Given the description of an element on the screen output the (x, y) to click on. 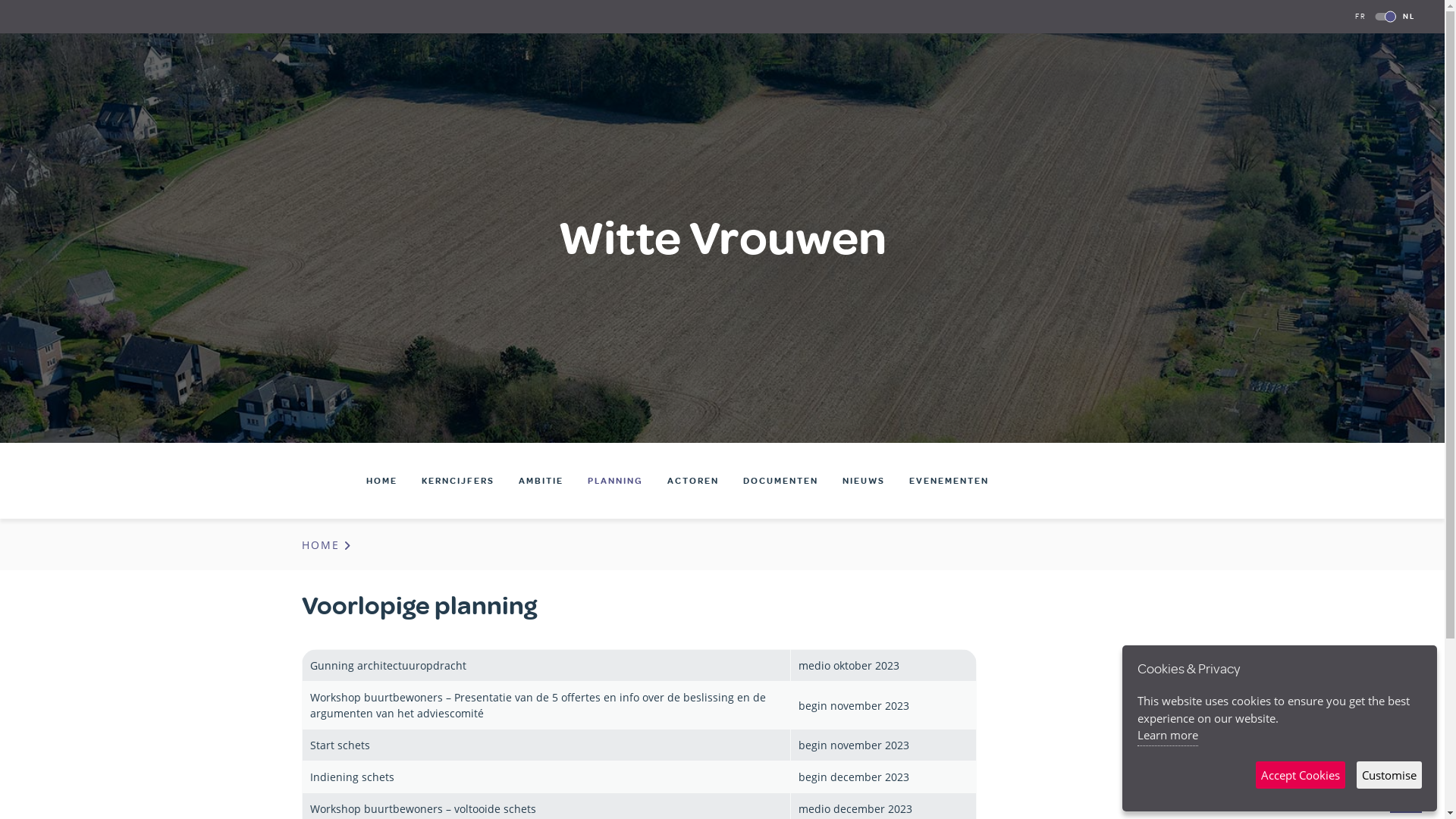
EVENEMENTEN Element type: text (949, 480)
FR Element type: text (1360, 16)
AMBITIE Element type: text (540, 480)
Customise Element type: text (1388, 775)
NL Element type: text (1408, 16)
ACTOREN Element type: text (693, 480)
Overslaan en naar de inhoud gaan Element type: text (0, 0)
KERNCIJFERS Element type: text (457, 480)
DOCUMENTEN Element type: text (780, 480)
HOME Element type: text (381, 480)
Learn more Element type: text (1167, 736)
Accept Cookies Element type: text (1300, 775)
HOME Element type: text (327, 544)
Back to top Element type: text (1405, 800)
PLANNING Element type: text (615, 480)
NIEUWS Element type: text (863, 480)
